Given the description of an element on the screen output the (x, y) to click on. 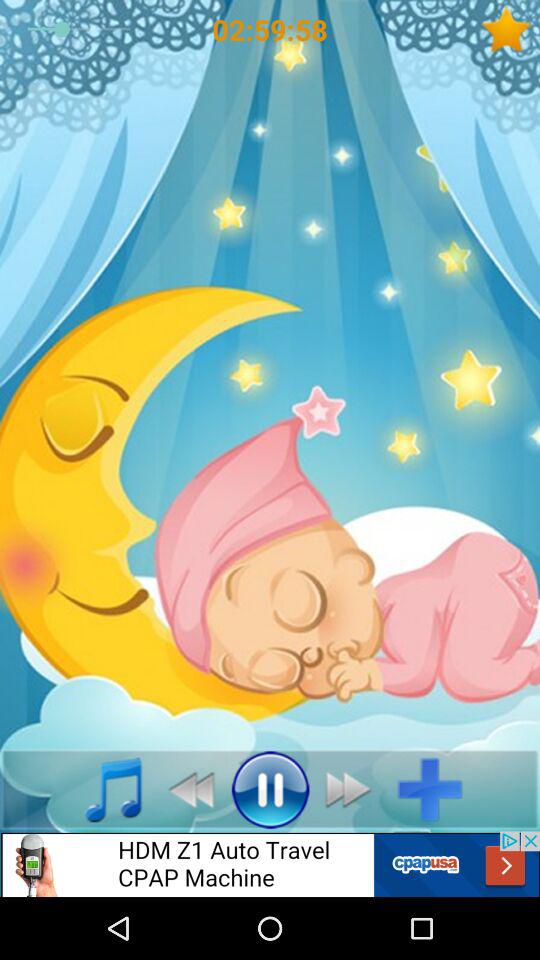
star up (510, 29)
